Given the description of an element on the screen output the (x, y) to click on. 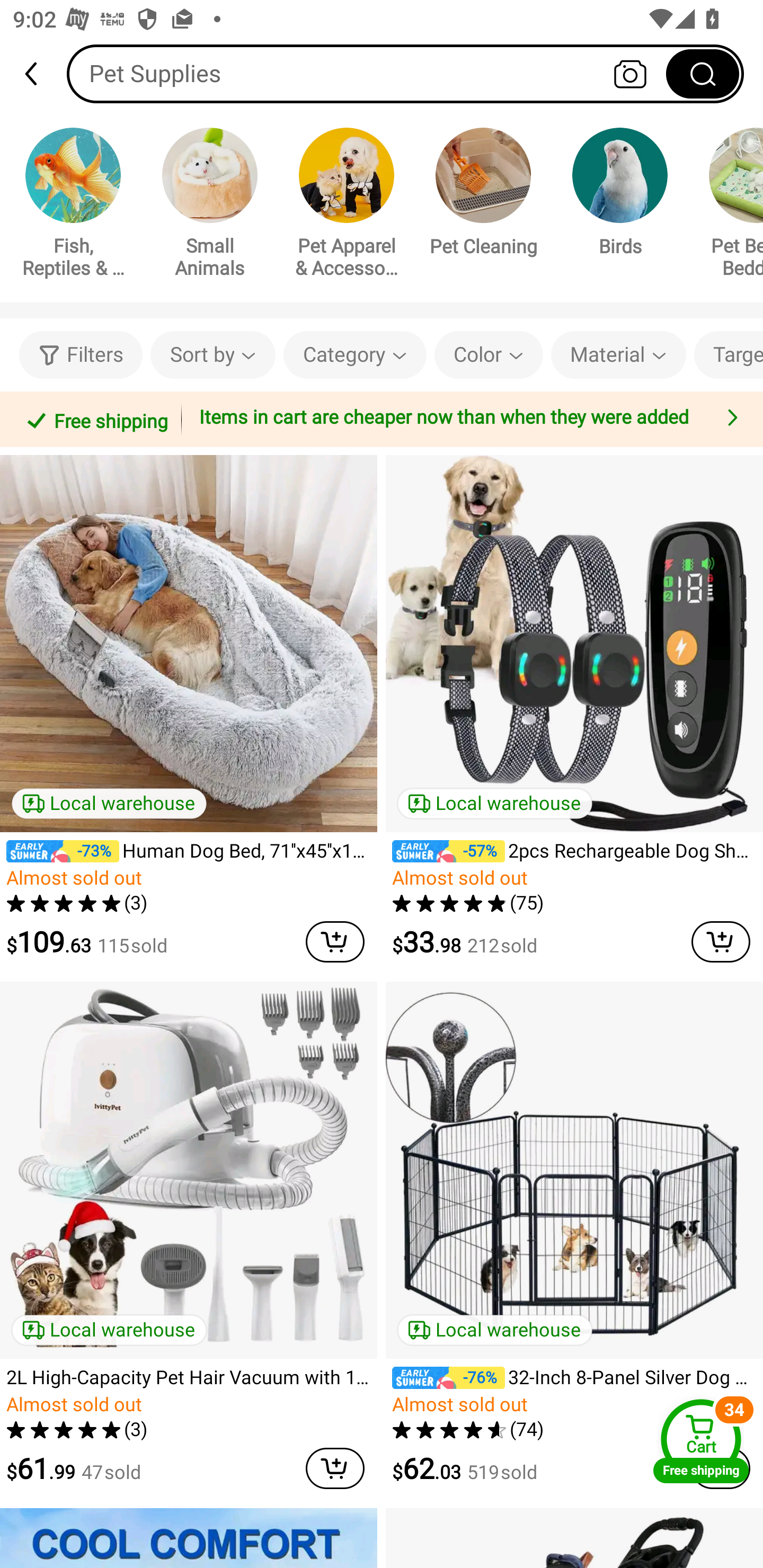
back (39, 73)
Pet Supplies (405, 73)
Fish, Reptiles & Amphibians (73, 205)
Small Animals (209, 205)
Pet Apparel & Accessories (346, 205)
Pet Cleaning (483, 195)
Birds (619, 195)
Filters (80, 354)
Sort by (212, 354)
Category (354, 354)
Color (488, 354)
Material (617, 354)
Target Species (728, 354)
 Free shipping (93, 418)
Cart Free shipping Cart (701, 1440)
